Given the description of an element on the screen output the (x, y) to click on. 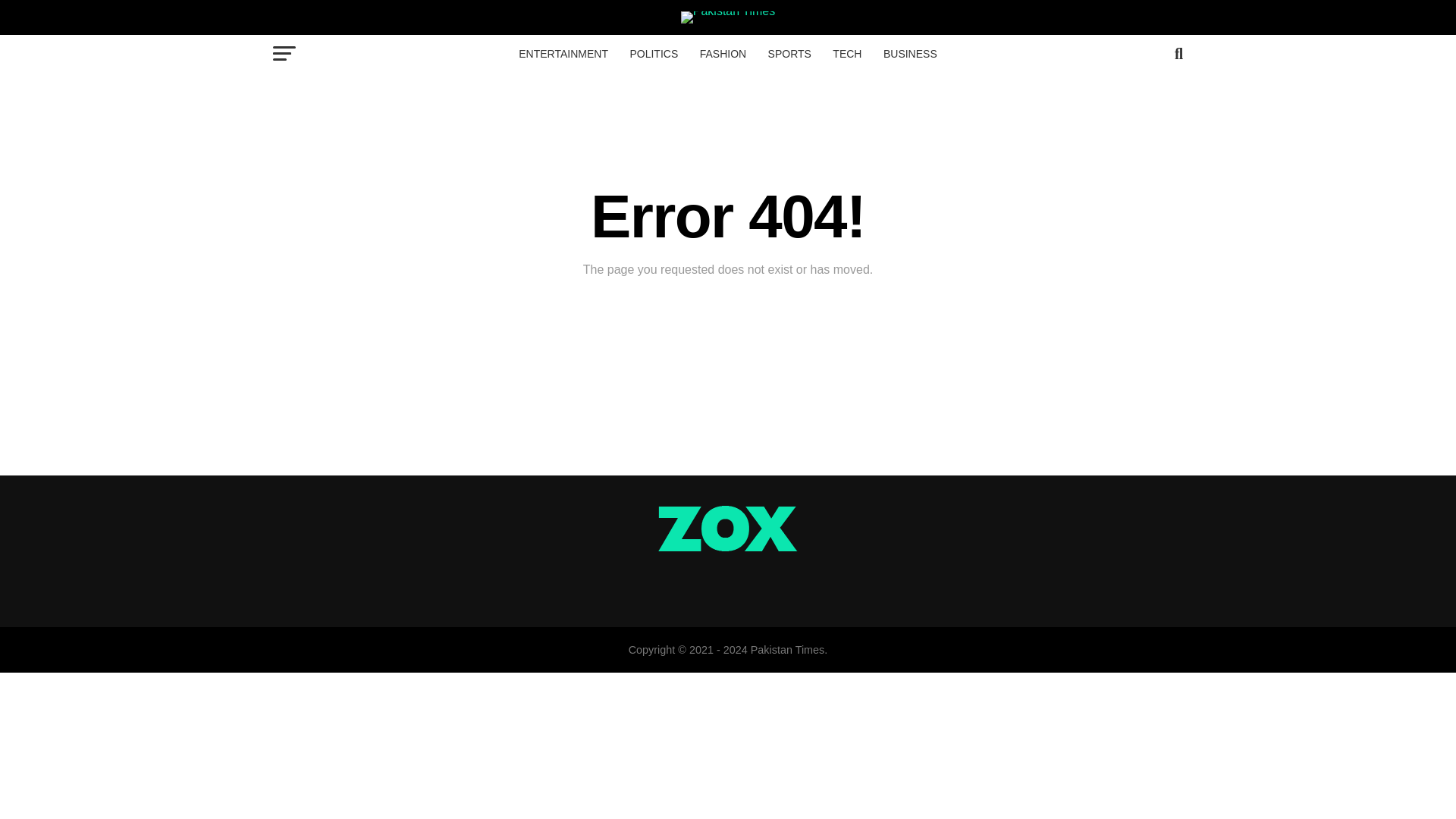
FASHION (722, 53)
SPORTS (789, 53)
TECH (847, 53)
ENTERTAINMENT (563, 53)
POLITICS (653, 53)
BUSINESS (910, 53)
